Given the description of an element on the screen output the (x, y) to click on. 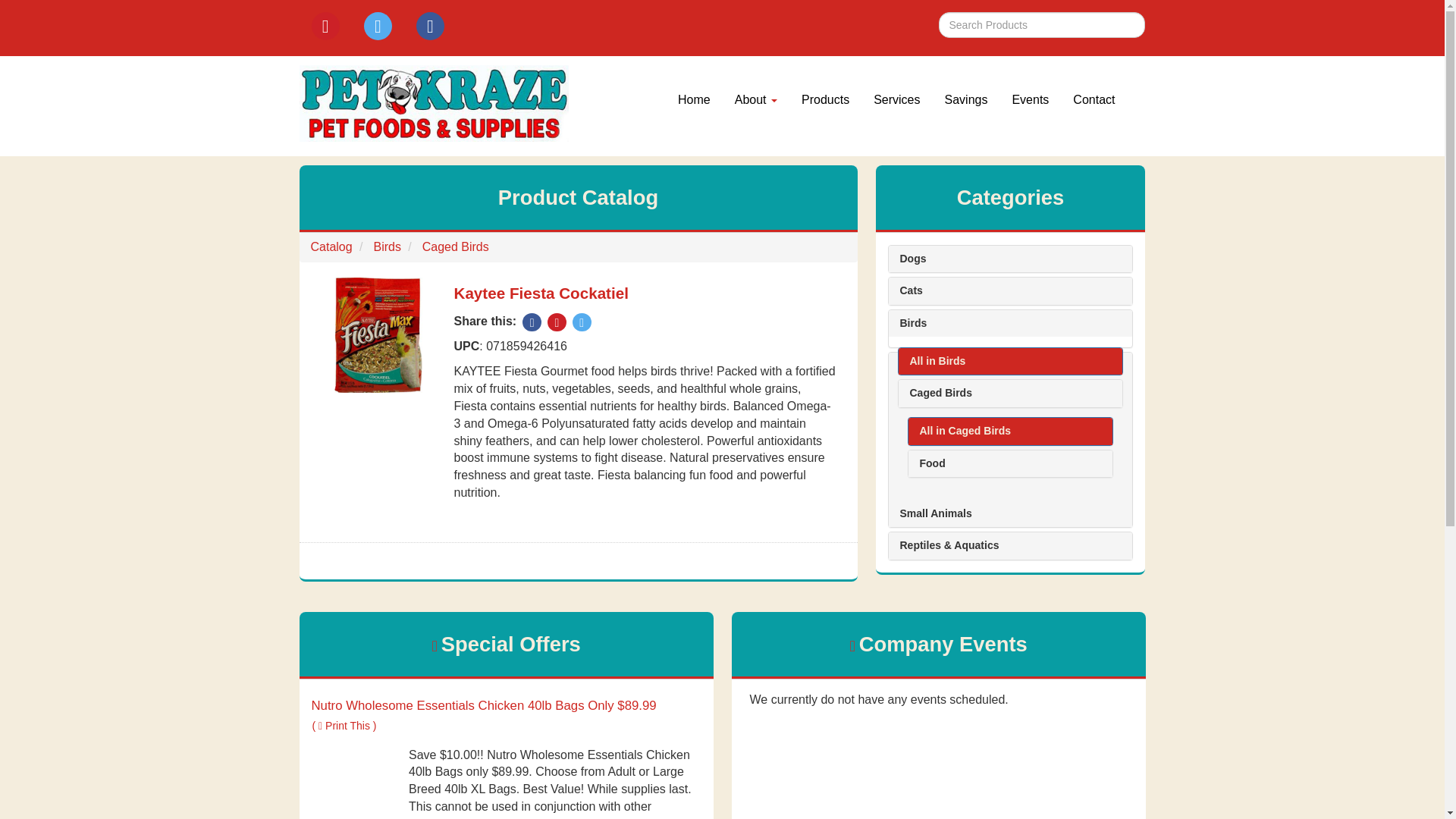
Kaytee Fiesta Cockatiel (539, 293)
twitter (377, 26)
Share on Facebook (531, 322)
facebook (430, 26)
Skip Navigation (610, 67)
Tweet on Twitter (581, 322)
pinterest (325, 26)
Catalog (331, 246)
Birds (386, 246)
Dogs (1010, 258)
Pin on Pinterest (556, 322)
Caged Birds (455, 246)
